Given the description of an element on the screen output the (x, y) to click on. 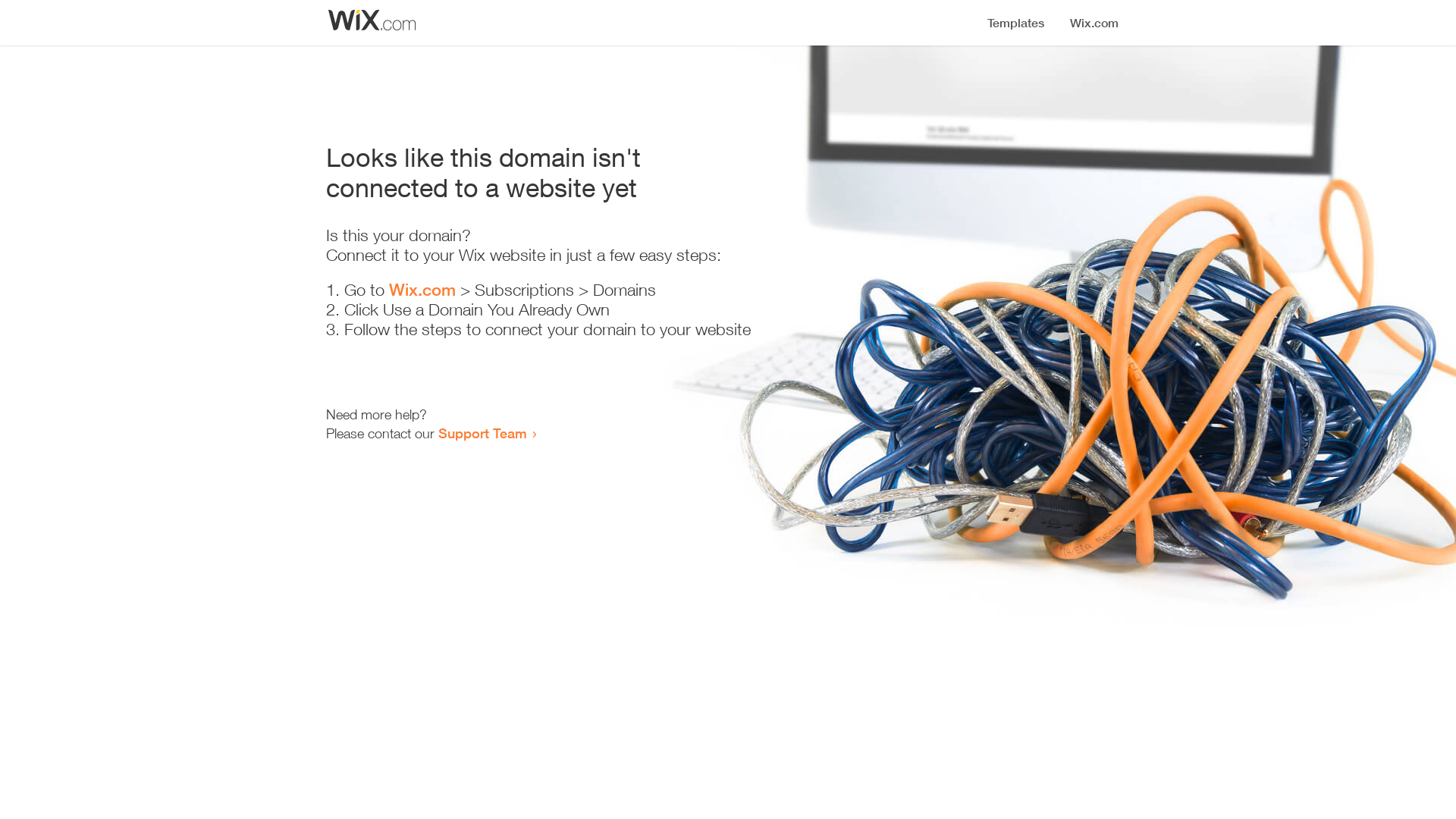
Wix.com Element type: text (422, 289)
Support Team Element type: text (482, 432)
